Given the description of an element on the screen output the (x, y) to click on. 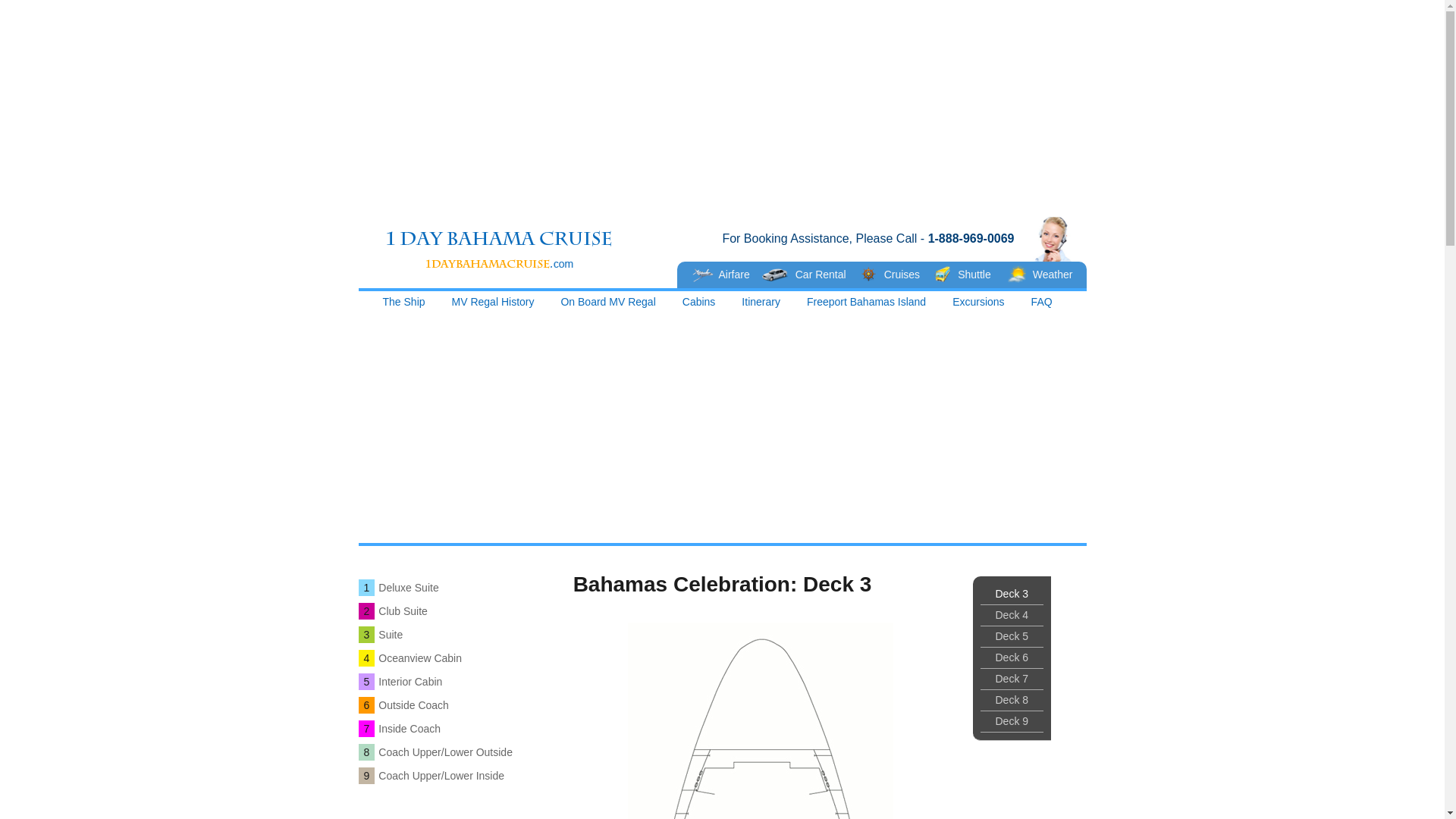
MV Regal History Element type: text (493, 304)
Weather Element type: text (1041, 274)
Airfare Element type: text (722, 274)
Deck 9 Element type: text (1011, 721)
Cruises Element type: text (898, 274)
Deck 7 Element type: text (1011, 679)
Advertisement Element type: hover (721, 419)
Inside Coach Element type: text (409, 728)
Coach Upper/Lower Inside Element type: text (441, 775)
Outside Coach Element type: text (413, 705)
On Board MV Regal Element type: text (608, 304)
Deck 4 Element type: text (1011, 615)
Coach Upper/Lower Outside Element type: text (445, 752)
The Ship Element type: text (404, 304)
Advertisement Element type: hover (721, 106)
FAQ Element type: text (1041, 304)
Club Suite Element type: text (402, 611)
Excursions Element type: text (978, 304)
Interior Cabin Element type: text (410, 681)
Car Rental Element type: text (811, 274)
Deck 6 Element type: text (1011, 657)
Deck 5 Element type: text (1011, 636)
Suite Element type: text (390, 634)
Shuttle Element type: text (972, 274)
Deck 3 Element type: text (1011, 594)
Cabins Element type: text (699, 304)
Oceanview Cabin Element type: text (419, 658)
Itinerary Element type: text (761, 304)
Deluxe Suite Element type: text (408, 587)
Freeport Bahamas Island Element type: text (866, 304)
1 Day Bahama Cruise
www.1daybahamacruise.com Element type: text (516, 245)
Advertisement Element type: hover (721, 375)
Deck 8 Element type: text (1011, 700)
